Given the description of an element on the screen output the (x, y) to click on. 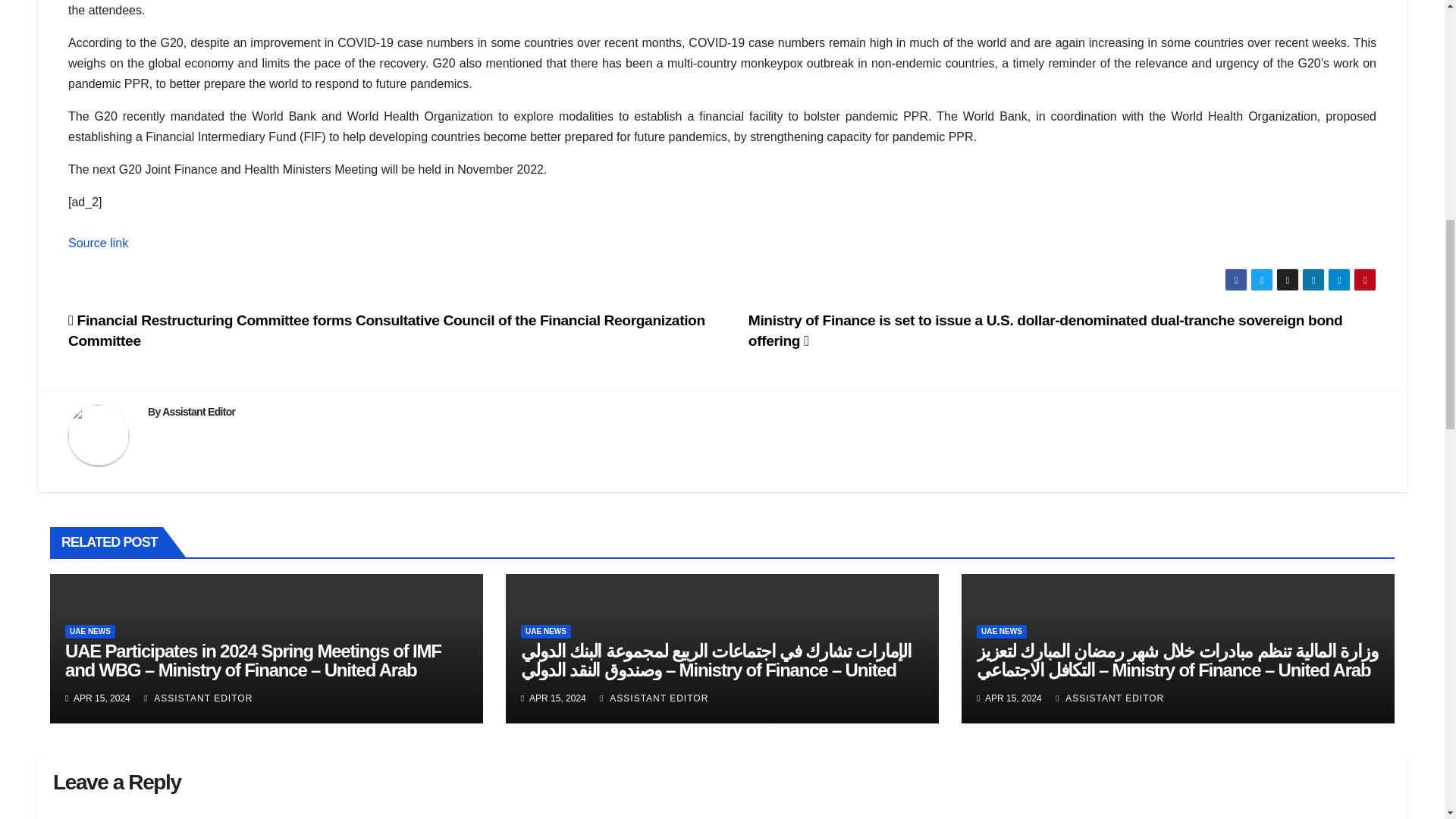
UAE NEWS (1001, 631)
Assistant Editor (197, 411)
ASSISTANT EDITOR (1109, 697)
Source link (98, 242)
UAE NEWS (545, 631)
ASSISTANT EDITOR (197, 697)
UAE NEWS (90, 631)
ASSISTANT EDITOR (653, 697)
